Given the description of an element on the screen output the (x, y) to click on. 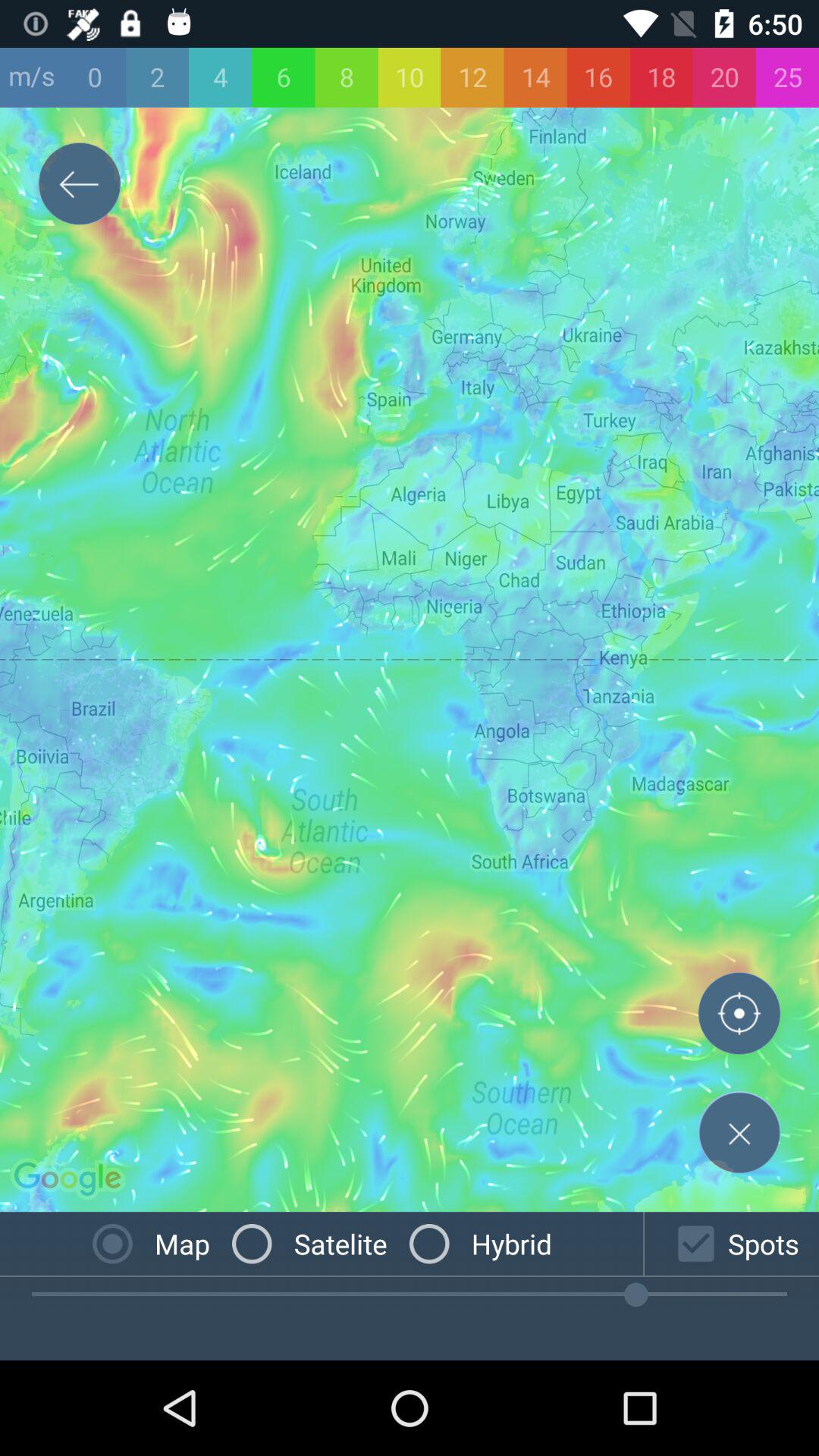
close button (739, 1132)
